Given the description of an element on the screen output the (x, y) to click on. 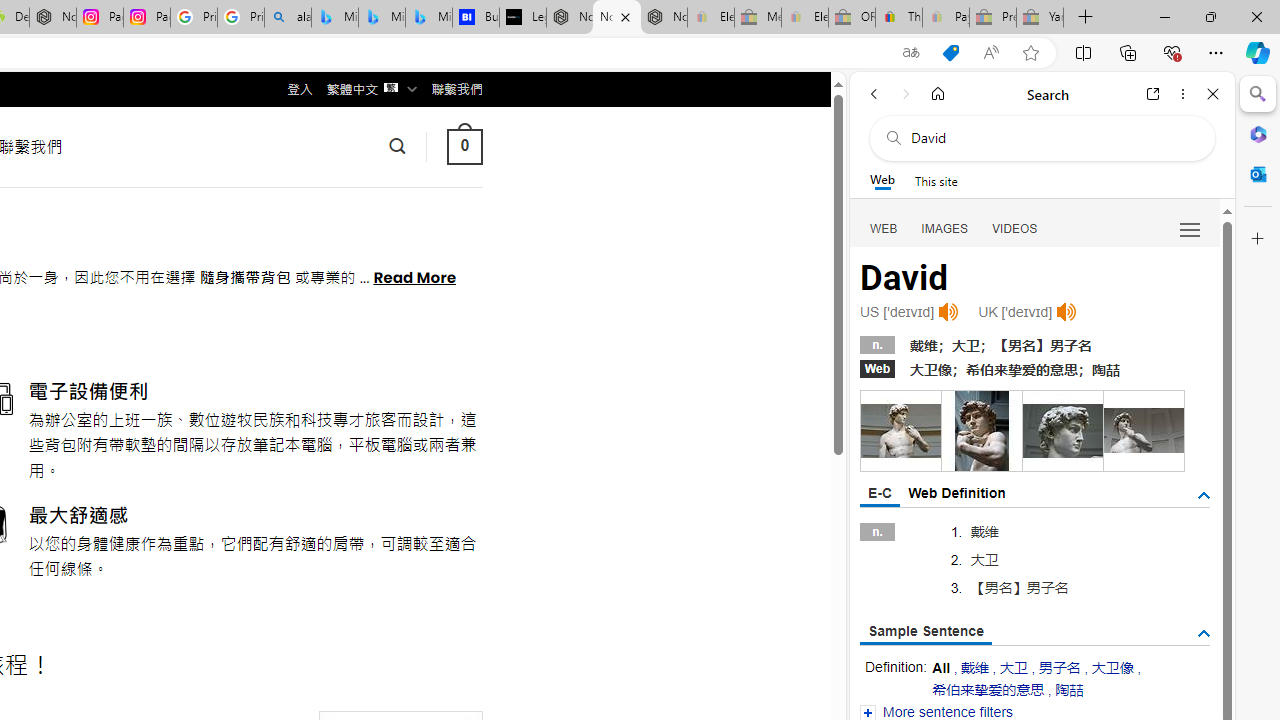
Threats and offensive language policy | eBay (898, 17)
E-C (880, 493)
Click to listen (1066, 312)
AutomationID: tgdef (1203, 495)
 0  (464, 146)
